Given the description of an element on the screen output the (x, y) to click on. 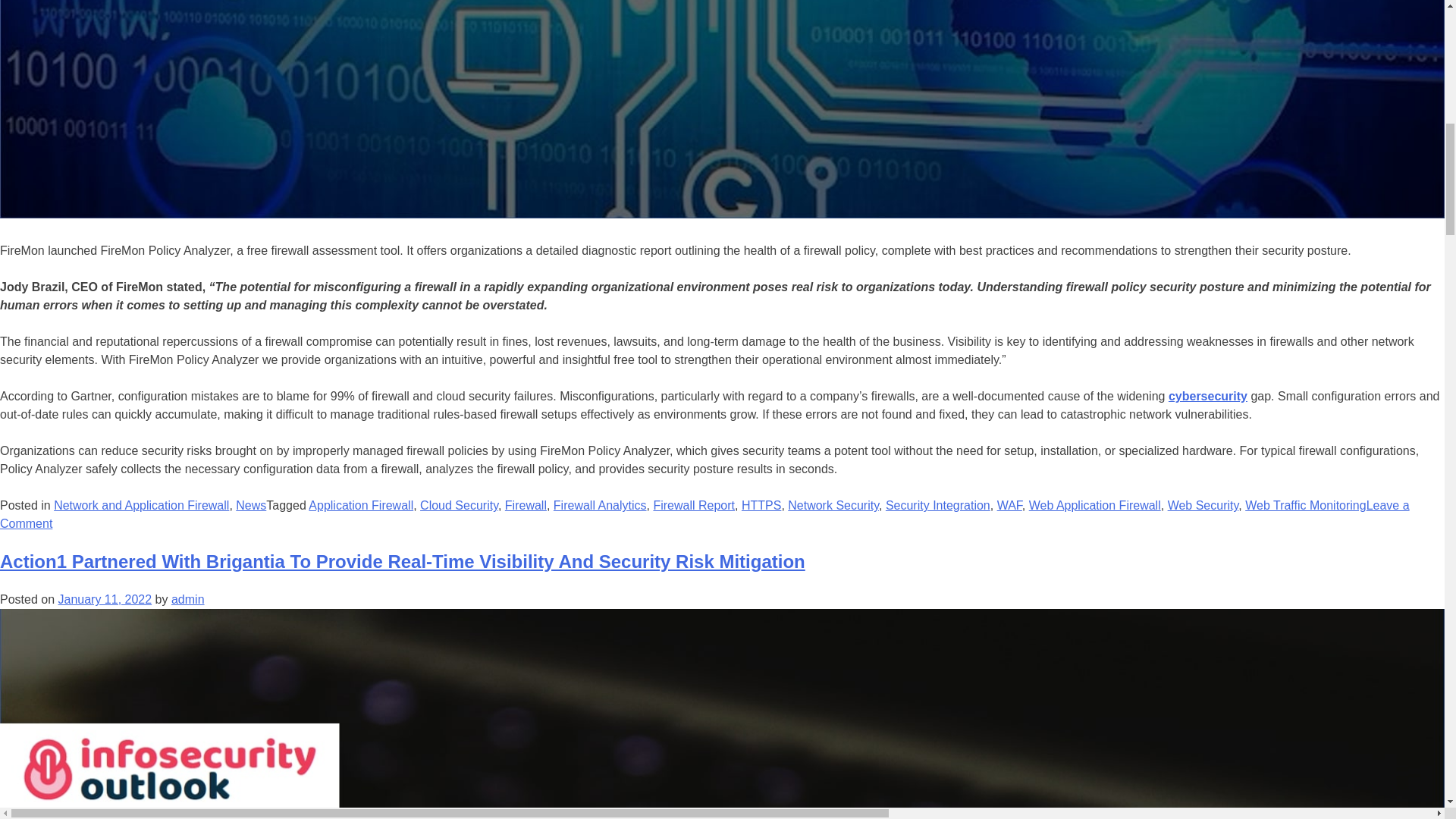
cybersecurity (1208, 395)
Application Firewall (360, 504)
News (250, 504)
Network and Application Firewall (140, 504)
